Given the description of an element on the screen output the (x, y) to click on. 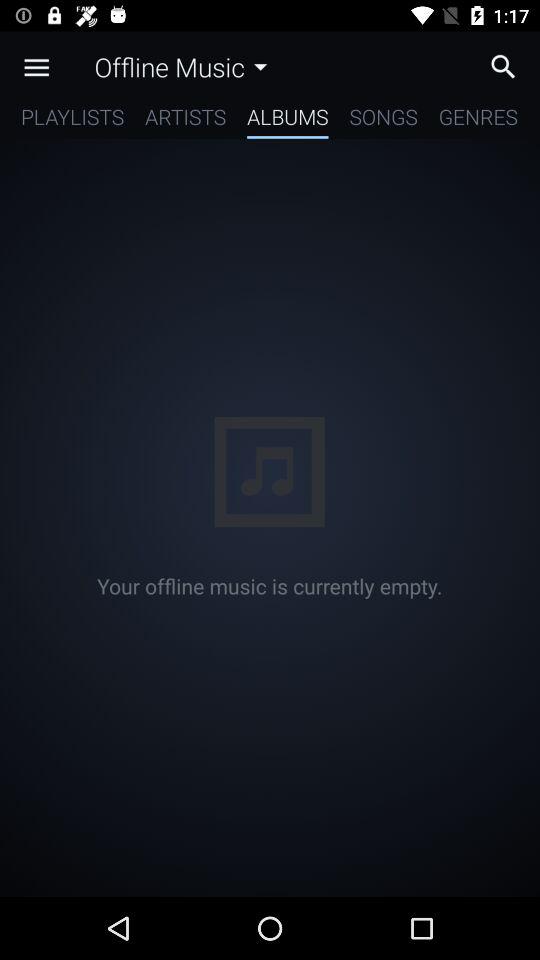
launch item to the left of albums app (185, 120)
